Given the description of an element on the screen output the (x, y) to click on. 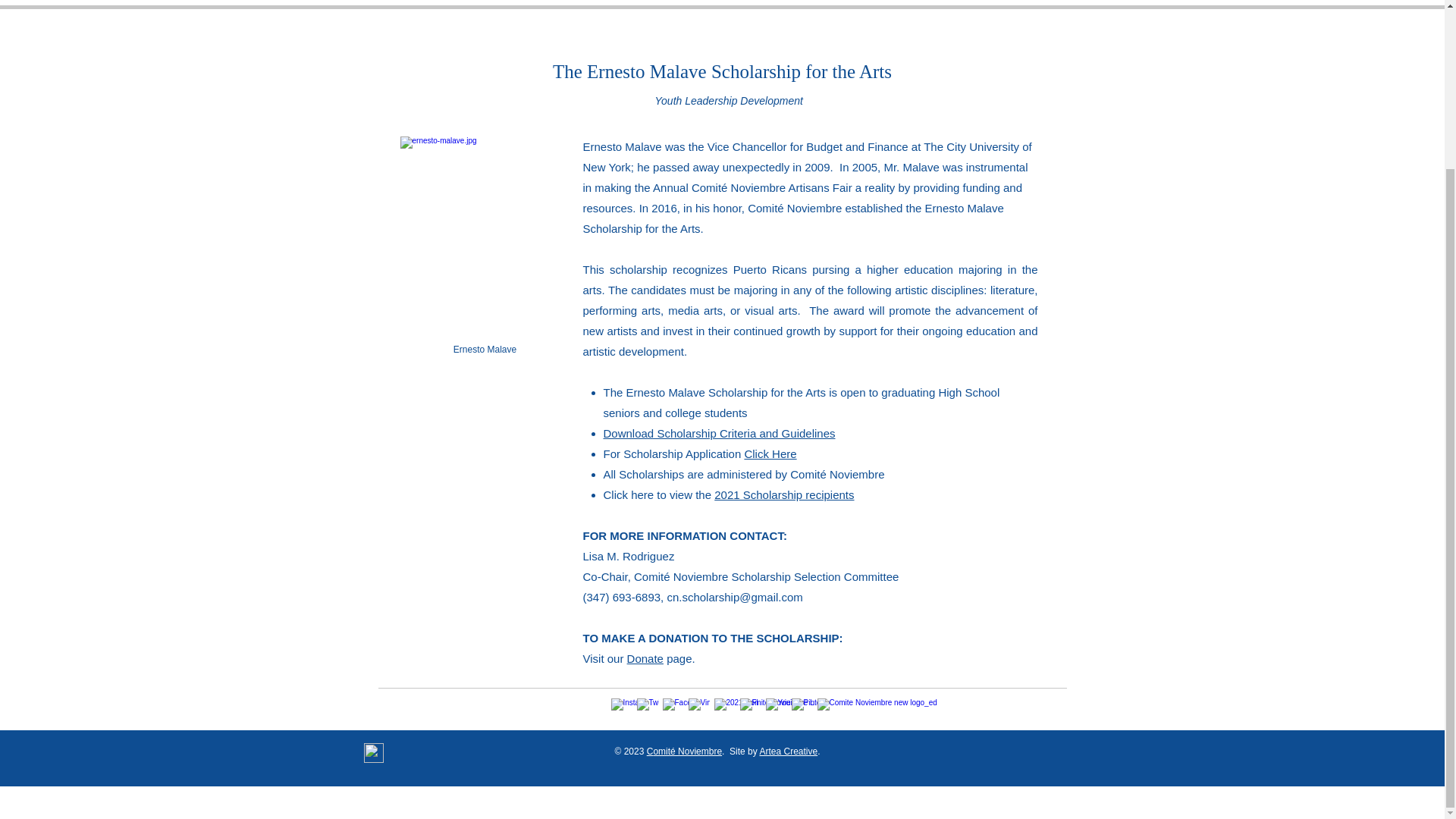
Programs (457, 4)
Donate (812, 4)
Volunteer (871, 4)
Shop (763, 4)
Gallery (713, 4)
Members (990, 4)
Home (401, 4)
The Poster (651, 4)
Scholarships (527, 4)
Contact (930, 4)
